Given the description of an element on the screen output the (x, y) to click on. 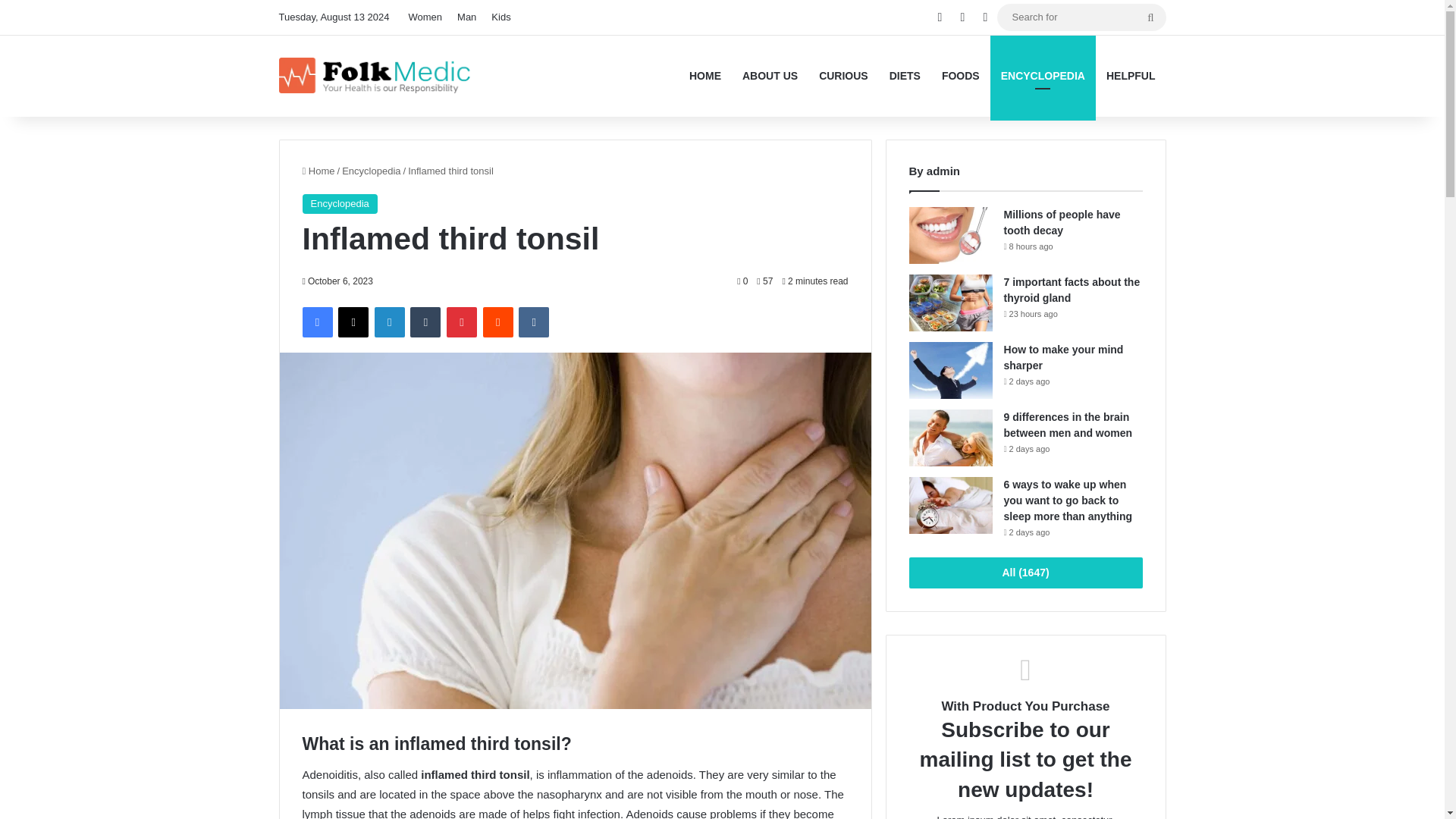
Tumblr (425, 322)
Search for (1150, 17)
Search for (1080, 16)
Tumblr (425, 322)
Pinterest (461, 322)
ABOUT US (770, 76)
LinkedIn (389, 322)
Home (317, 170)
Kids (500, 17)
LinkedIn (389, 322)
